Given the description of an element on the screen output the (x, y) to click on. 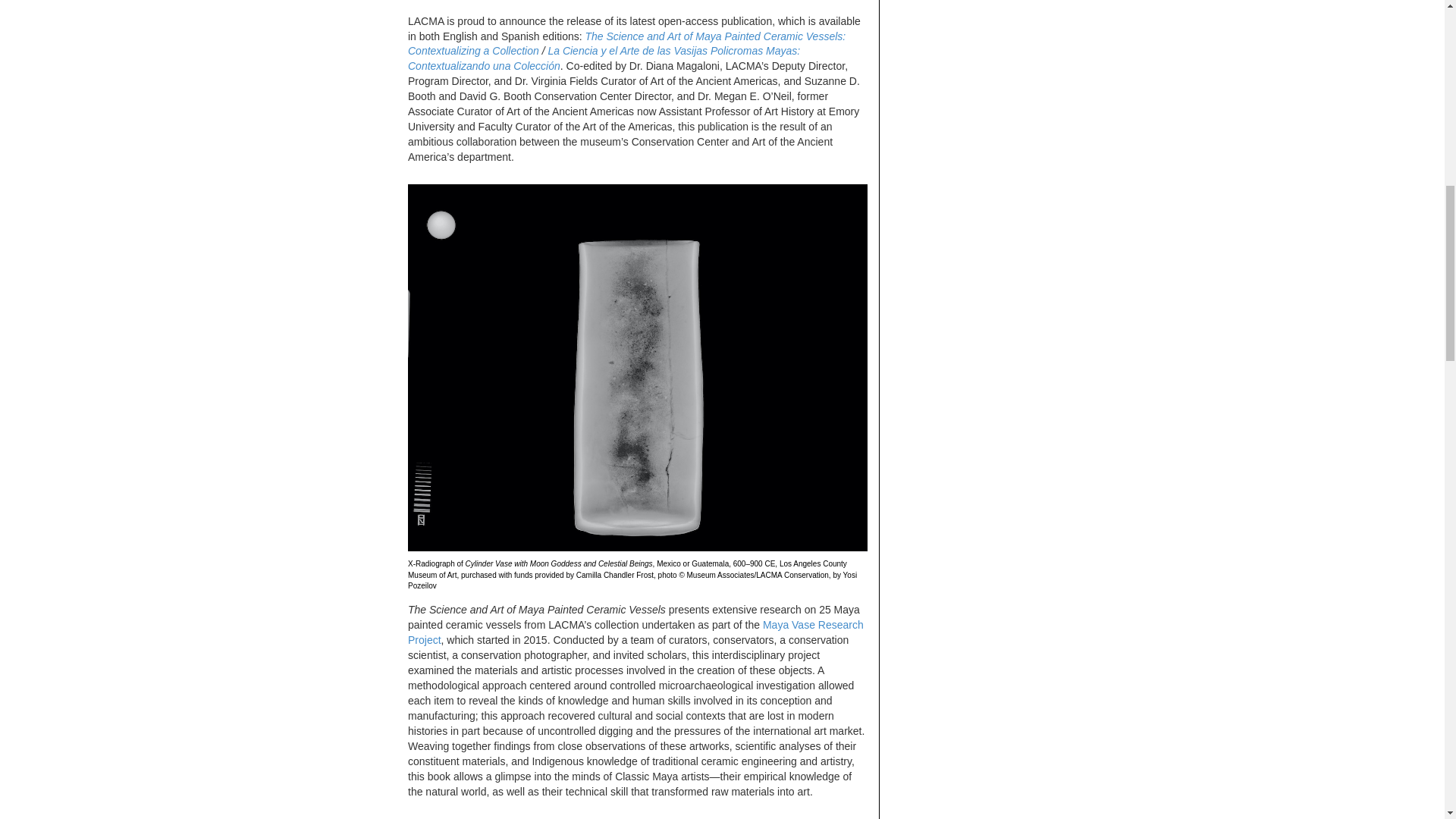
Maya Vase Research Project (635, 632)
